Given the description of an element on the screen output the (x, y) to click on. 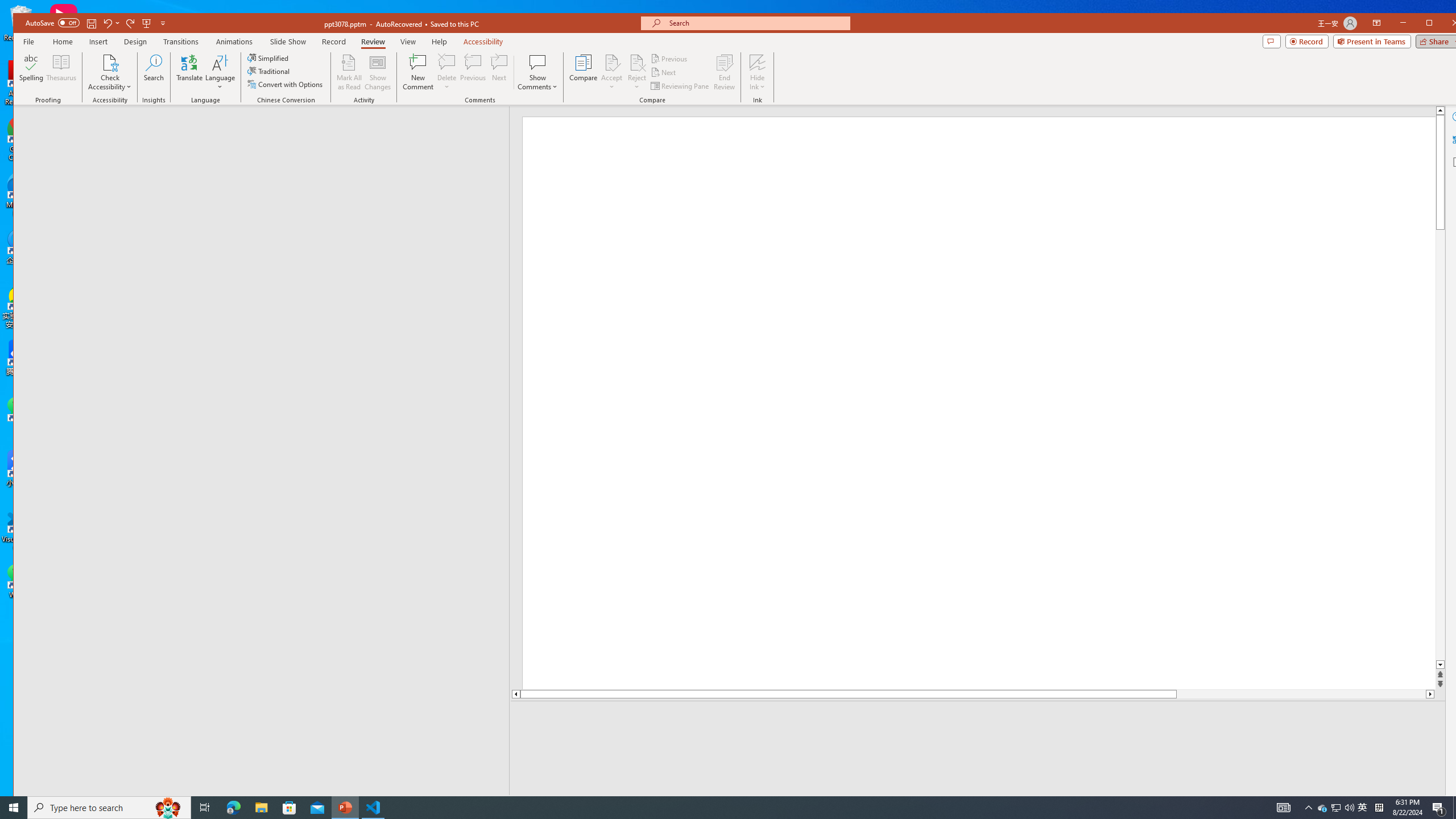
Slide Show Previous On (1217, 802)
